Given the description of an element on the screen output the (x, y) to click on. 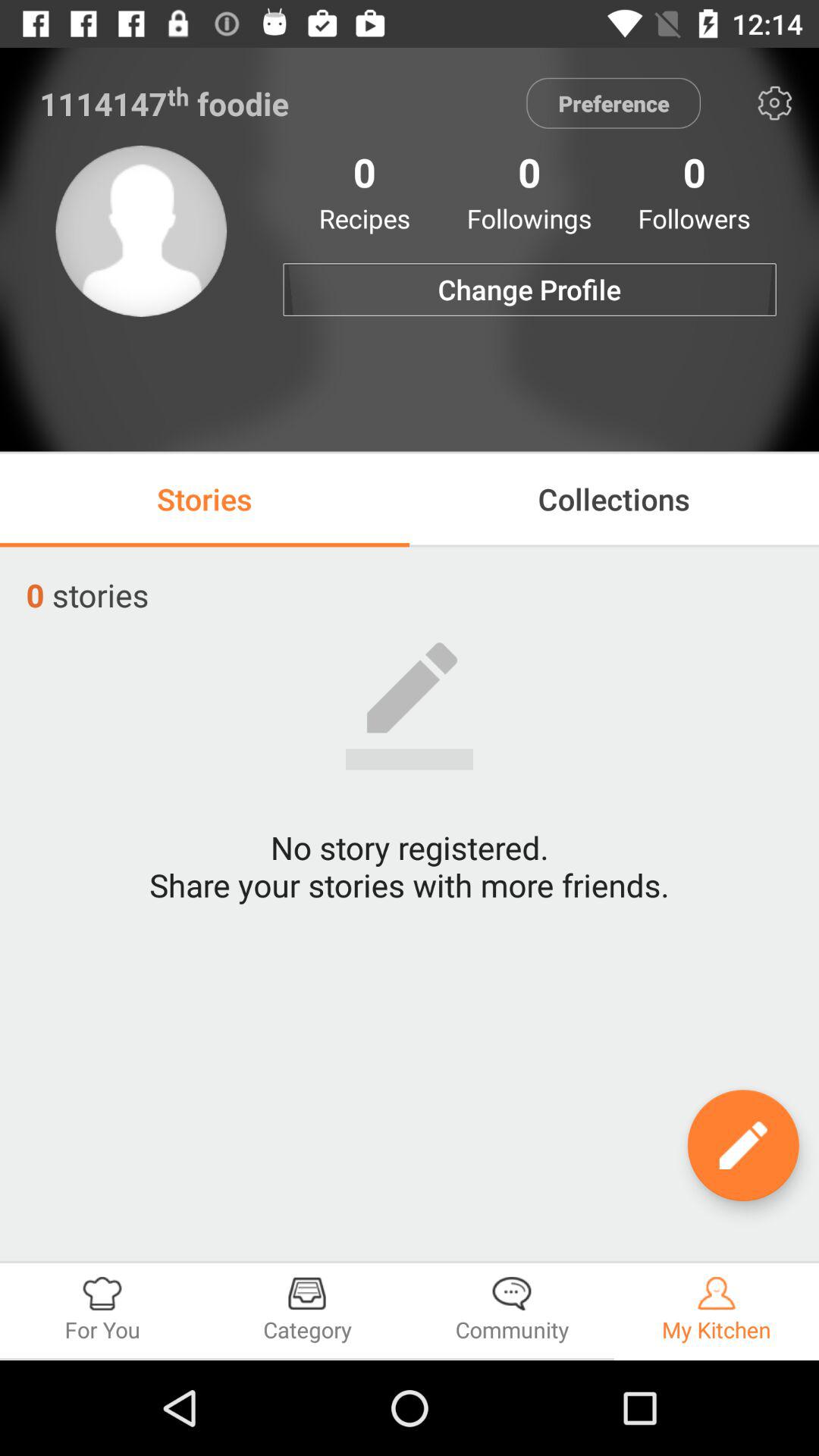
press icon below recipes icon (529, 289)
